Given the description of an element on the screen output the (x, y) to click on. 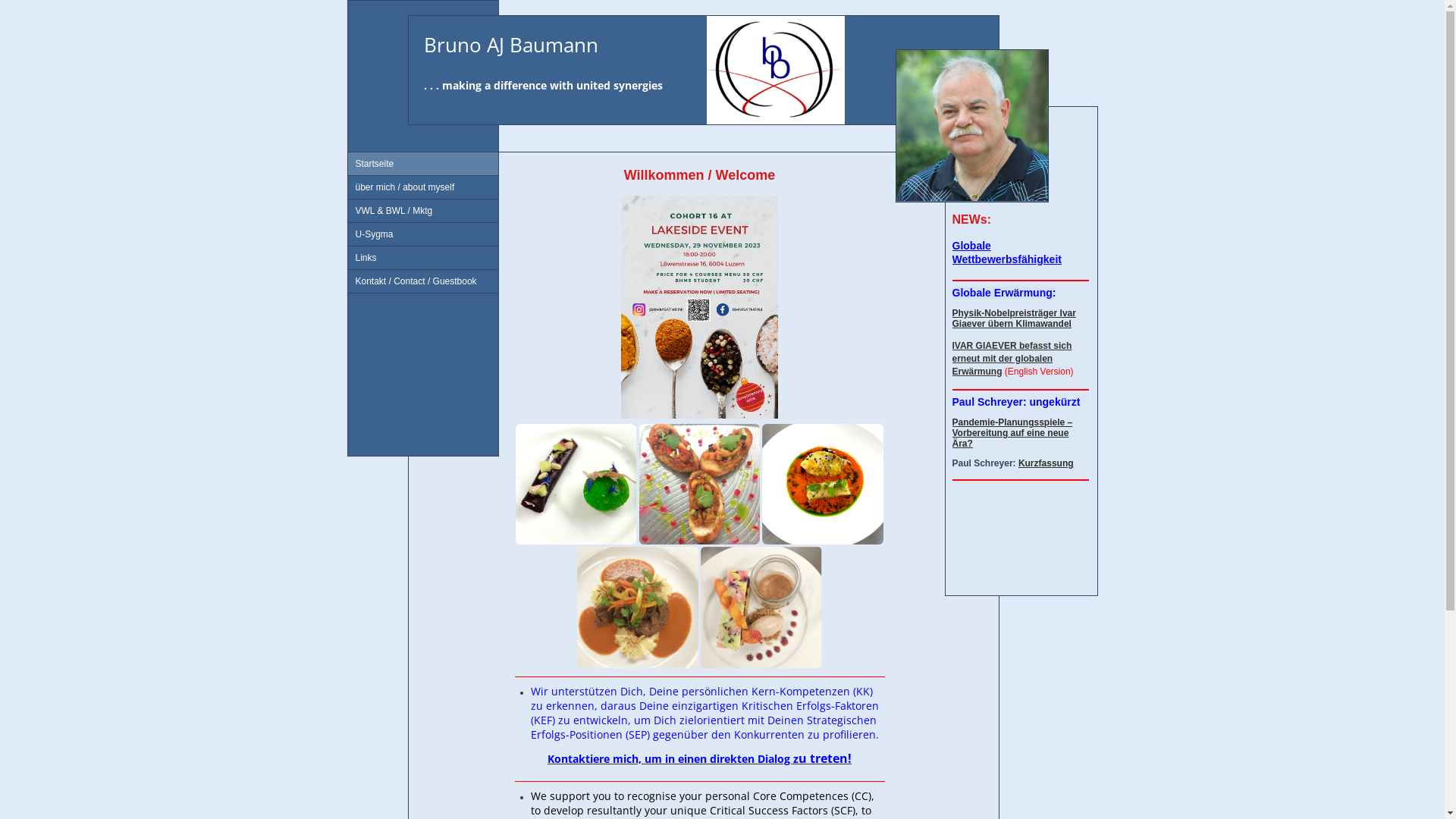
Kontakt / Contact / Guestbook Element type: text (422, 281)
U-Sygma Element type: text (422, 234)
Kurzfassung Element type: text (1045, 463)
Startseite Element type: text (422, 163)
Links Element type: text (422, 257)
VWL & BWL / Mktg Element type: text (422, 210)
Kontaktiere mich, um in einen direkten Dialog zu treten! Element type: text (699, 759)
